Given the description of an element on the screen output the (x, y) to click on. 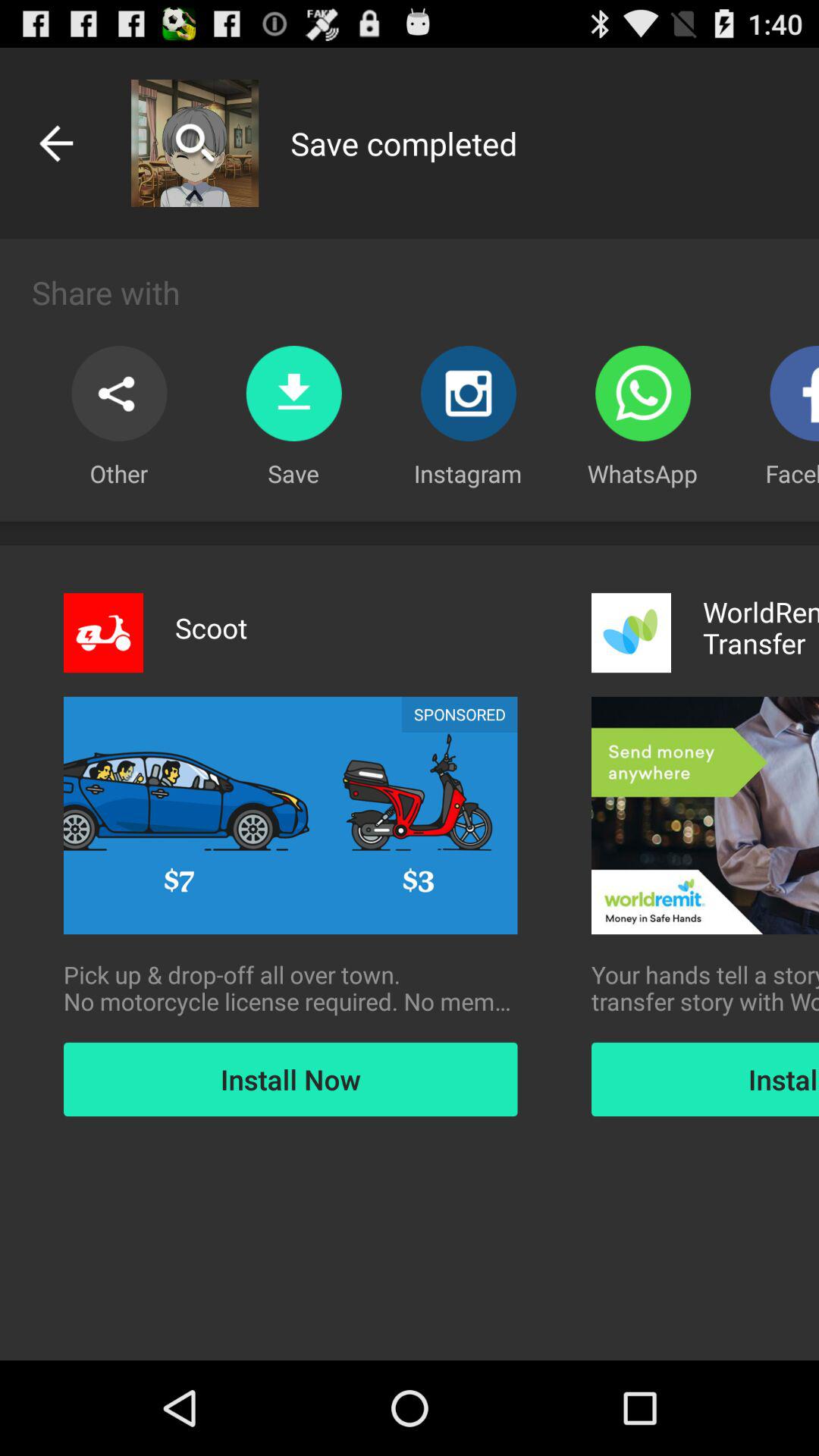
launch item next to your hands tell app (290, 988)
